Given the description of an element on the screen output the (x, y) to click on. 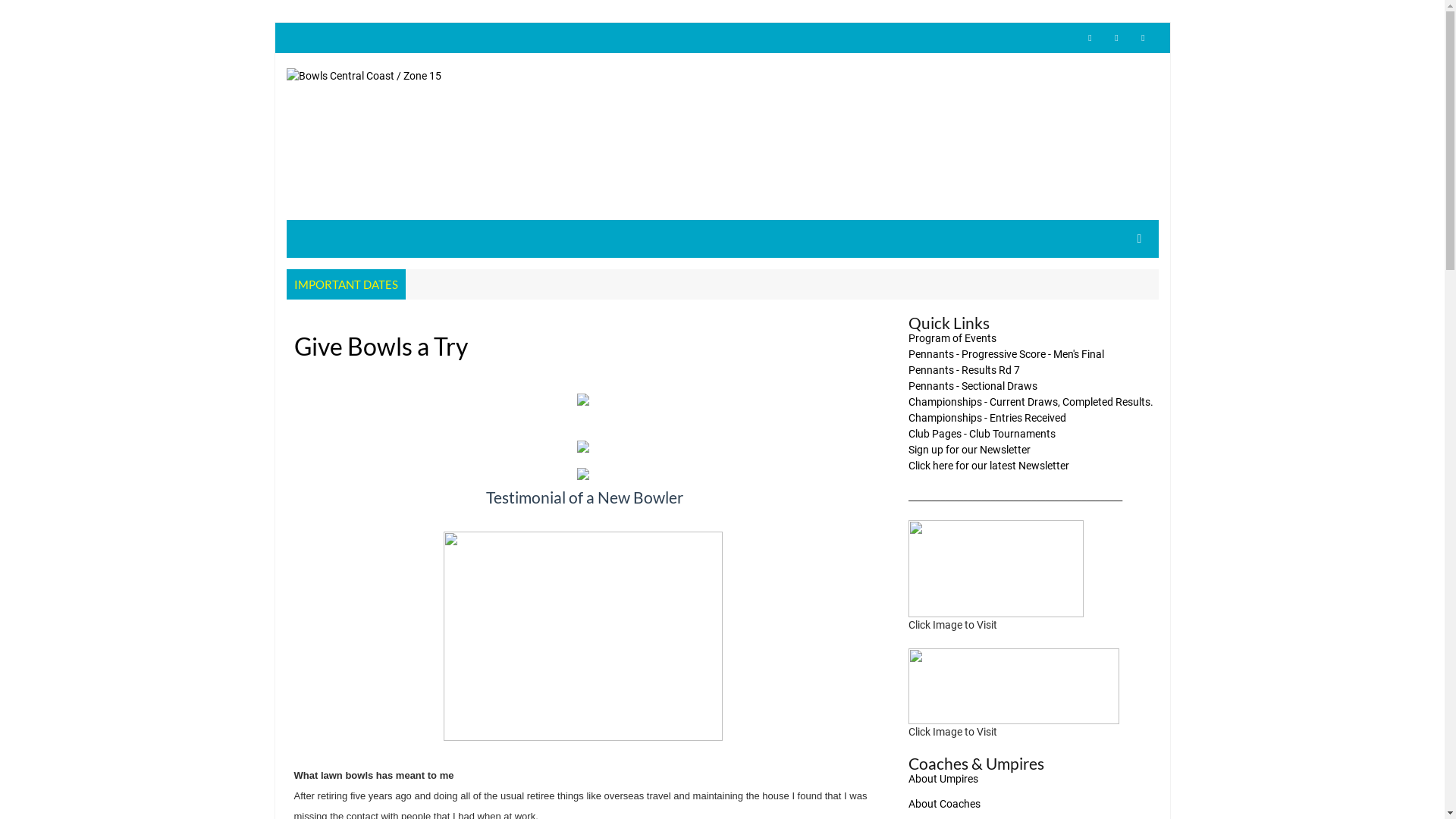
Club Pages - Club Tournaments Element type: text (981, 433)
twitter Element type: hover (1089, 37)
instagram Element type: hover (1142, 37)
facebook Element type: hover (1116, 37)
Sign up for our Newsletter Element type: text (969, 449)
About Coaches Element type: text (944, 803)
Championships - Current Draws, Completed Results. Element type: text (1030, 401)
Pennants - Progressive Score - Men's Final Element type: text (1006, 354)
Program of Events Element type: text (952, 338)
Pennants - Sectional Draws Element type: text (972, 385)
Click here for our latest Newsletter Element type: text (988, 465)
Pennants - Results Rd 7 Element type: text (963, 370)
About Umpires Element type: text (943, 778)
Championships - Entries Received Element type: text (987, 417)
